Given the description of an element on the screen output the (x, y) to click on. 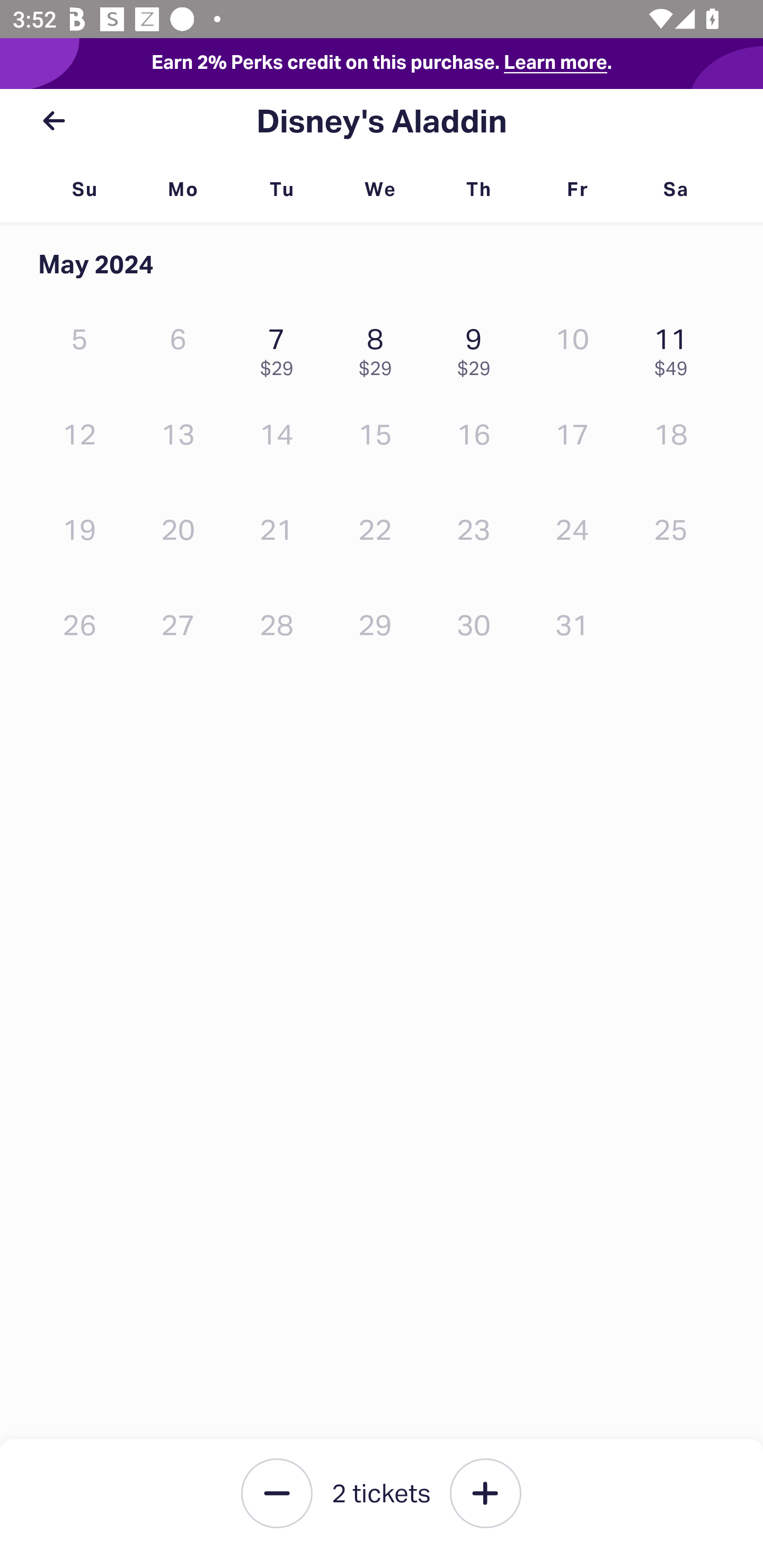
Earn 2% Perks credit on this purchase. Learn more. (381, 63)
back button (53, 120)
7 $29 (281, 347)
8 $29 (379, 347)
9 $29 (478, 347)
11 $49 (675, 347)
